Given the description of an element on the screen output the (x, y) to click on. 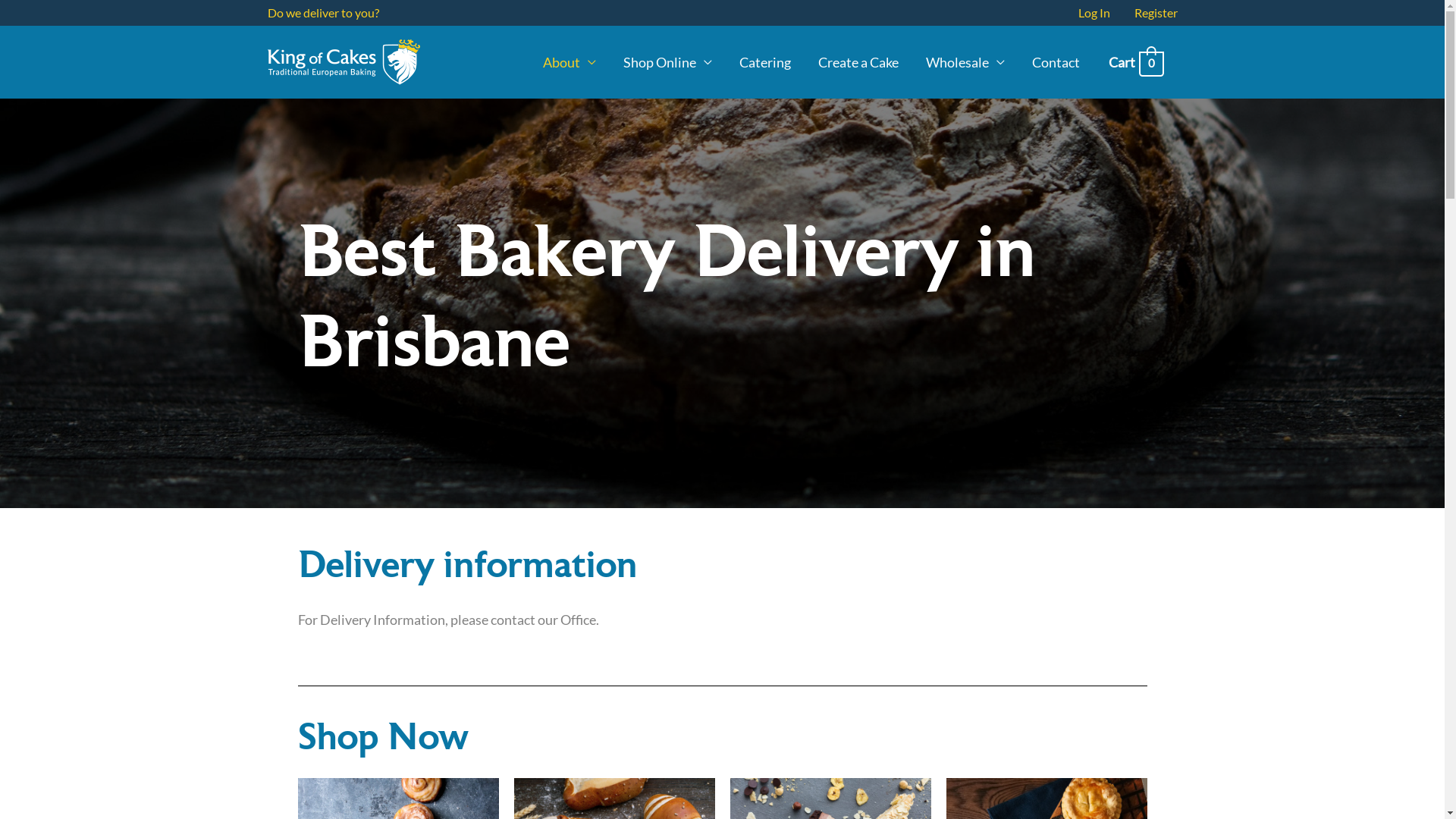
Register Element type: text (1149, 12)
Catering Element type: text (764, 61)
Create a Cake Element type: text (858, 61)
Shop Online Element type: text (667, 61)
Cart 0 Element type: text (1135, 61)
About Element type: text (569, 61)
Wholesale Element type: text (965, 61)
Contact Element type: text (1055, 61)
Log In Element type: text (1094, 12)
Do we deliver to you? Element type: text (322, 12)
